Given the description of an element on the screen output the (x, y) to click on. 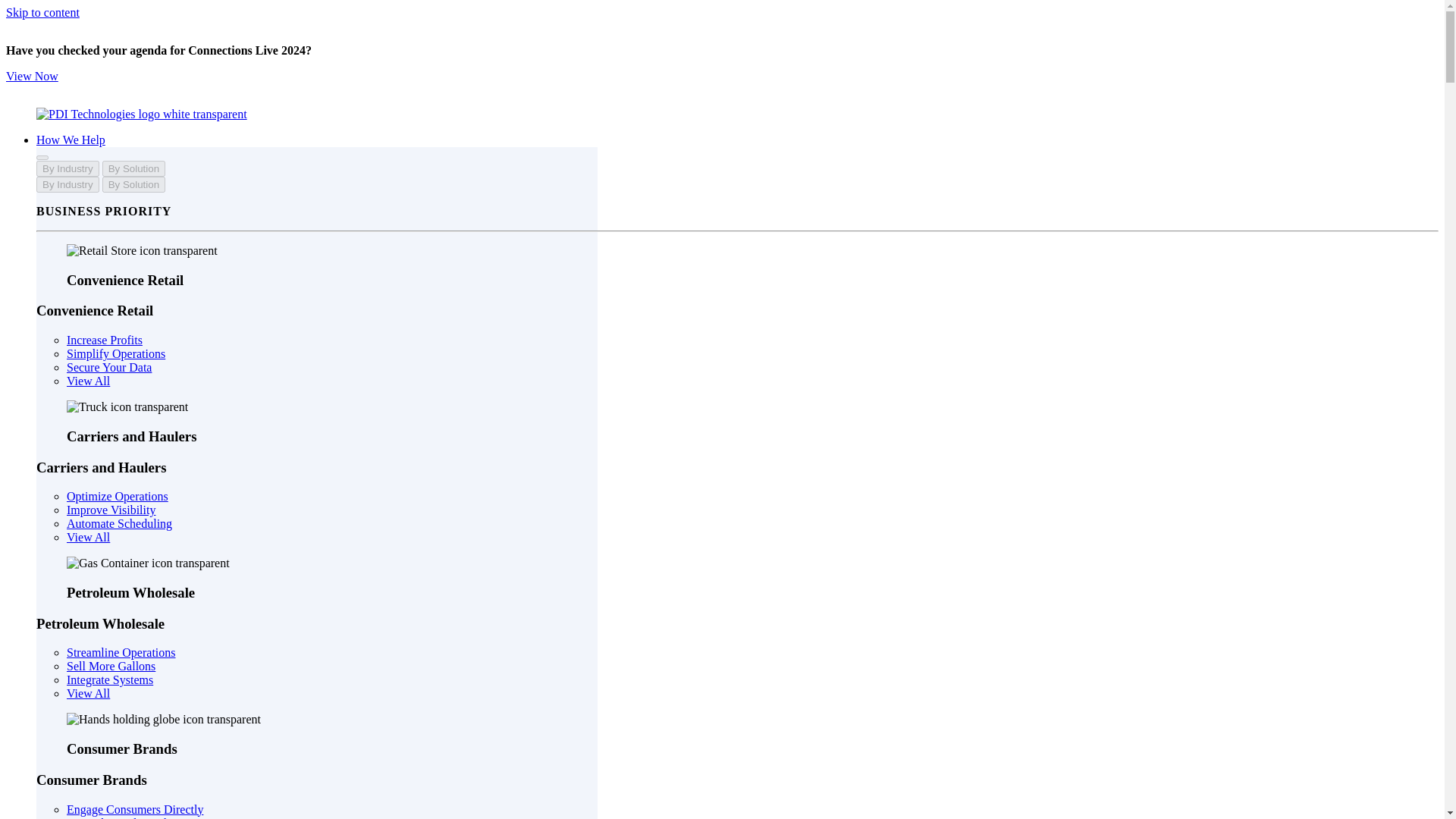
Automate Scheduling (118, 522)
Sell More Gallons (110, 666)
How We Help (70, 139)
Engage Consumers Directly (134, 809)
Simplify Operations (115, 353)
By Solution (133, 184)
Increase Profits (104, 339)
View Now (31, 75)
Streamline Operations (121, 652)
Integrate Systems (109, 679)
